Given the description of an element on the screen output the (x, y) to click on. 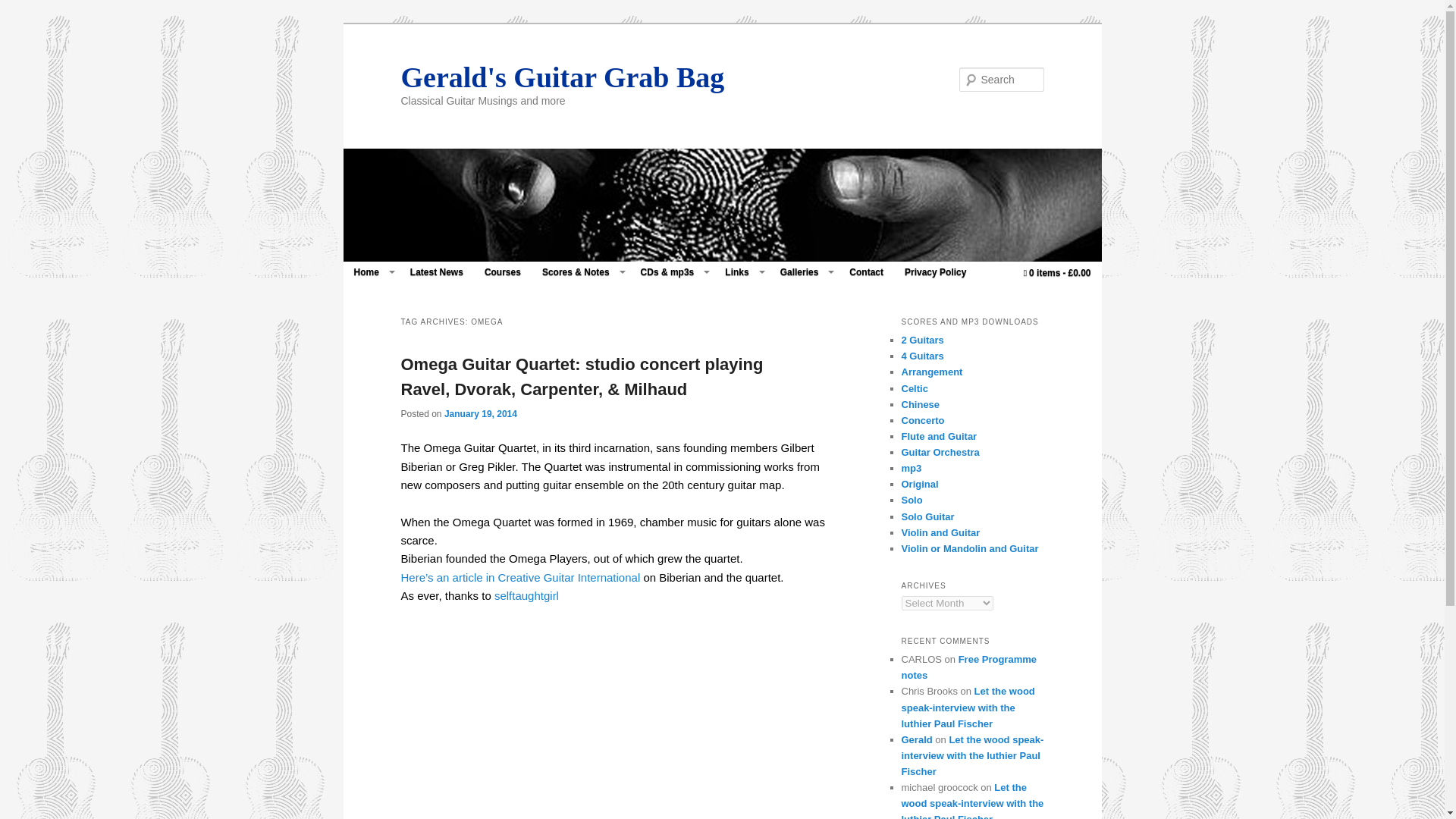
Courses (502, 271)
Gerald's Guitar Grab Bag (561, 76)
Start shopping (1057, 272)
Gerald's Guitar Grab Bag (561, 76)
Search (24, 8)
Latest News (436, 271)
Home (370, 271)
12:33 am (480, 413)
